Given the description of an element on the screen output the (x, y) to click on. 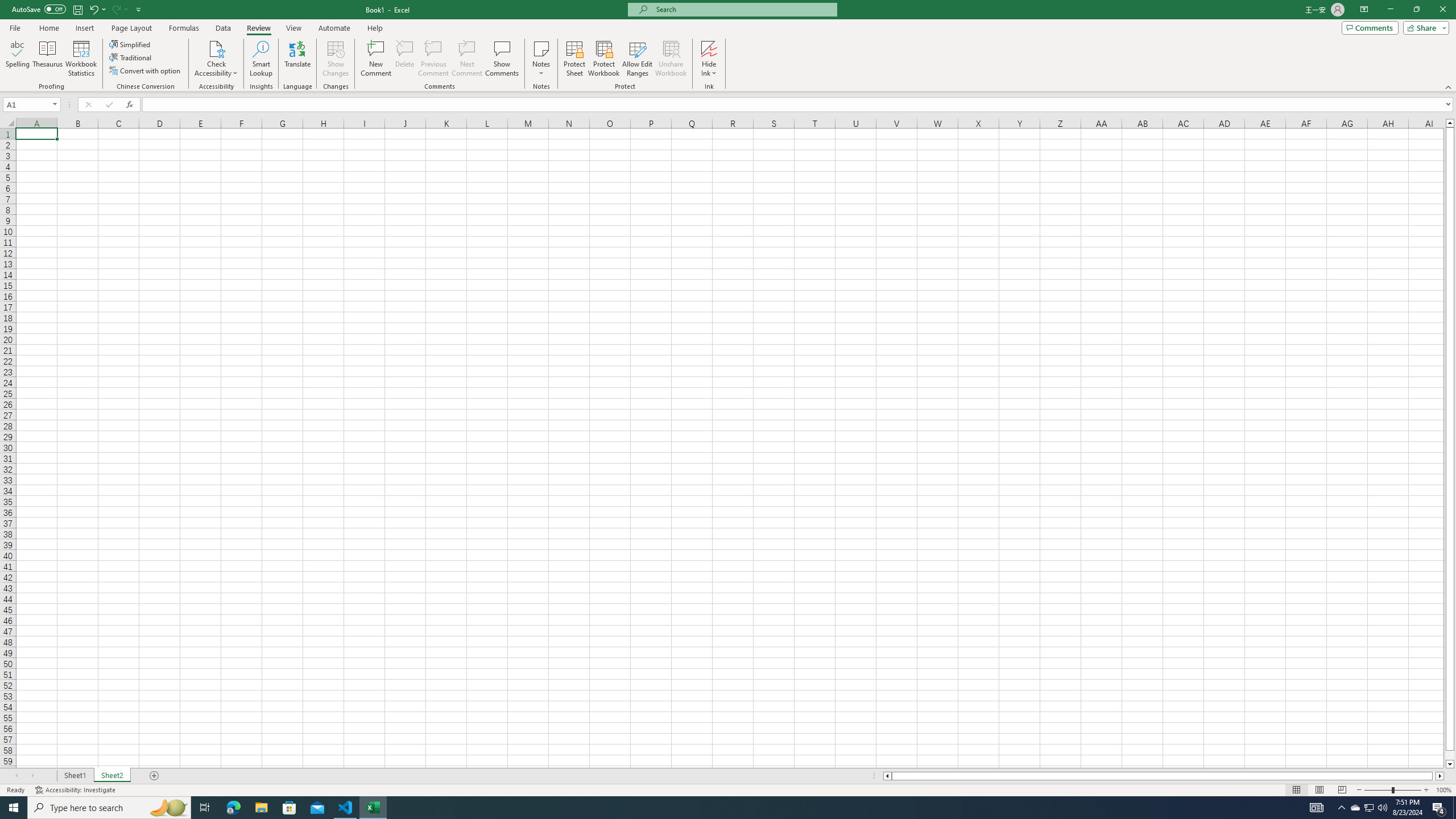
Sheet2 (112, 775)
